Given the description of an element on the screen output the (x, y) to click on. 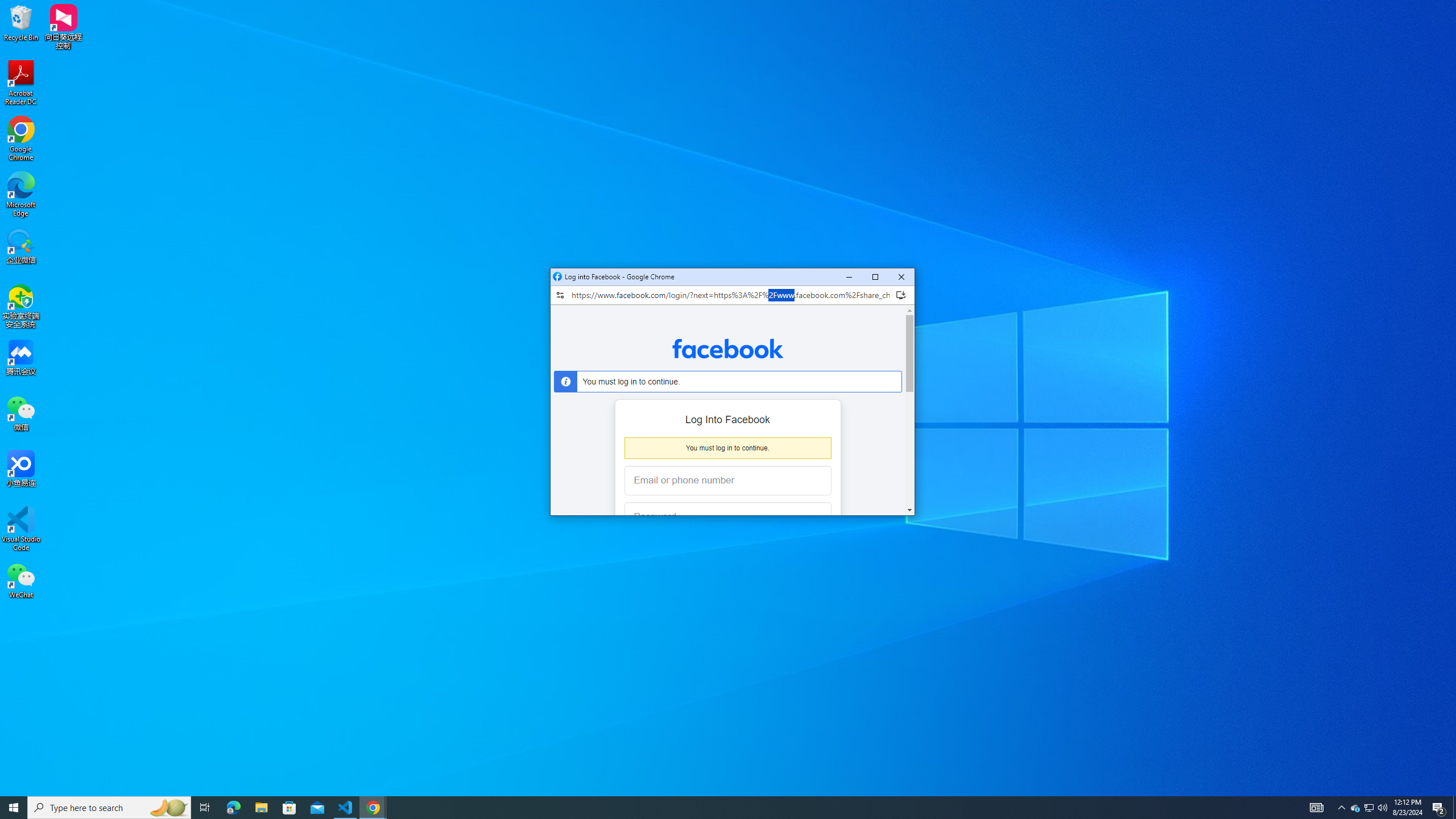
Running applications (717, 807)
Notification Chevron (1341, 807)
Password (719, 517)
Recycle Bin (21, 22)
Email or phone number (727, 481)
Visual Studio Code - 1 running window (345, 807)
Microsoft Store (1355, 807)
Type here to search (289, 807)
